Given the description of an element on the screen output the (x, y) to click on. 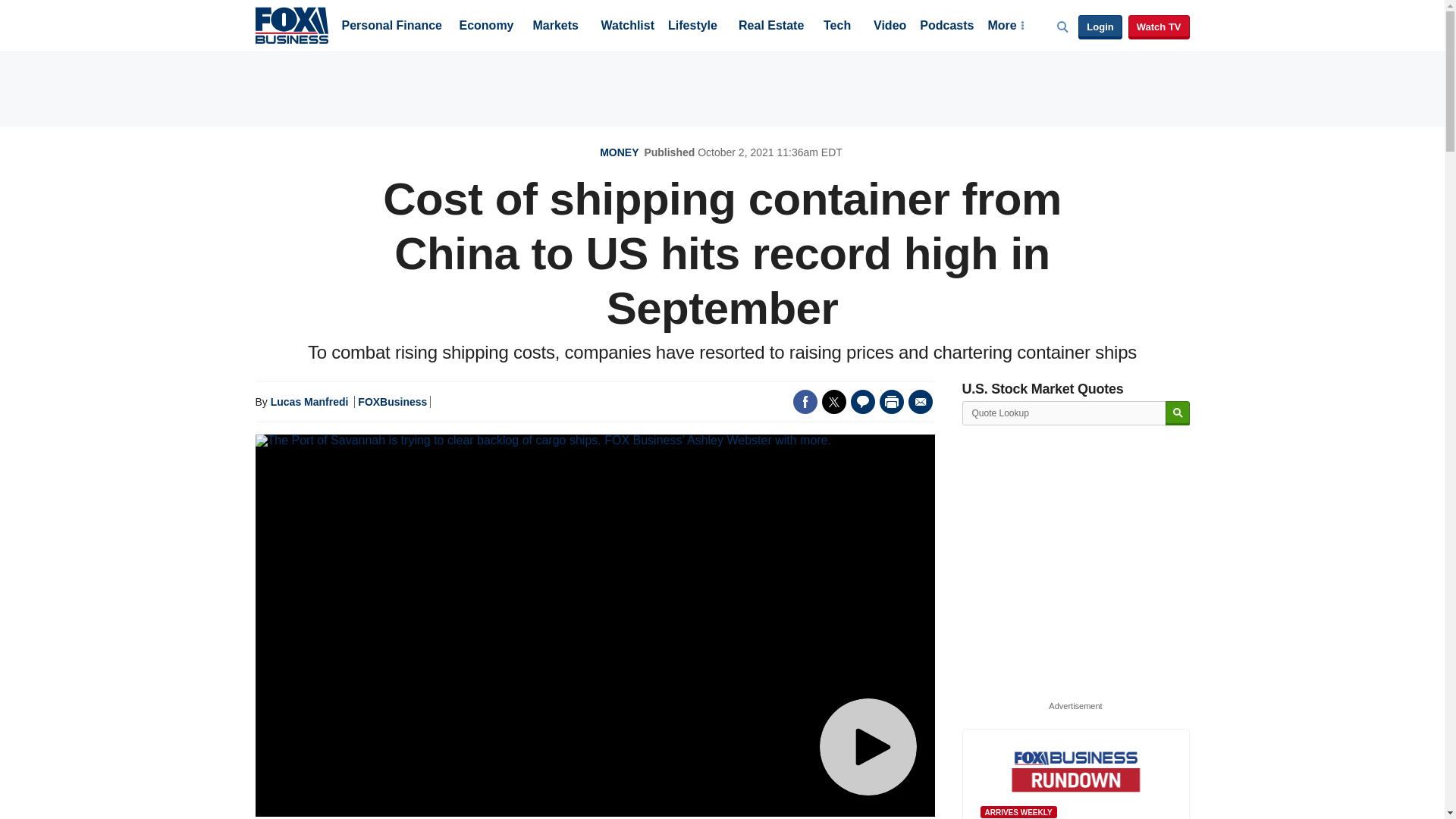
Watchlist (626, 27)
Real Estate (770, 27)
Login (1099, 27)
Tech (837, 27)
Podcasts (947, 27)
Markets (555, 27)
Lifestyle (692, 27)
Watch TV (1158, 27)
Search (1176, 413)
Search (1176, 413)
Personal Finance (391, 27)
More (1005, 27)
Video (889, 27)
Economy (486, 27)
Fox Business (290, 24)
